Given the description of an element on the screen output the (x, y) to click on. 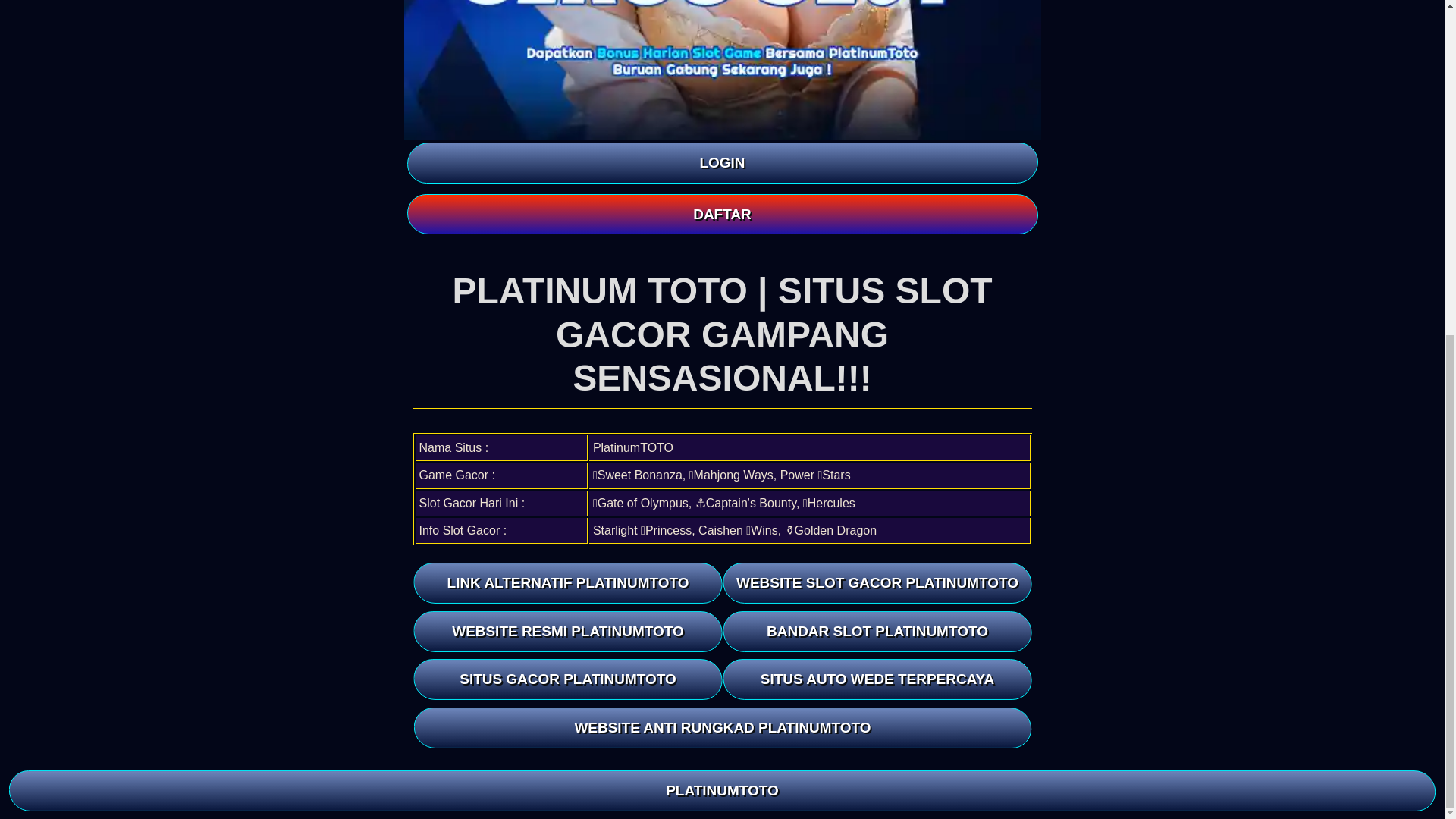
WEBSITE RESMI PLATINUMTOTO (567, 630)
DAFTAR (721, 214)
WEBSITE SLOT GACOR PLATINUMTOTO (876, 582)
LINK ALTERNATIF PLATINUMTOTO (567, 582)
BANDAR SLOT PLATINUMTOTO (877, 630)
WEBSITE ANTI RUNGKAD PLATINUMTOTO (723, 727)
LOGIN (721, 162)
SITUS AUTO WEDE TERPERCAYA (877, 679)
SITUS GACOR PLATINUMTOTO (567, 679)
